Given the description of an element on the screen output the (x, y) to click on. 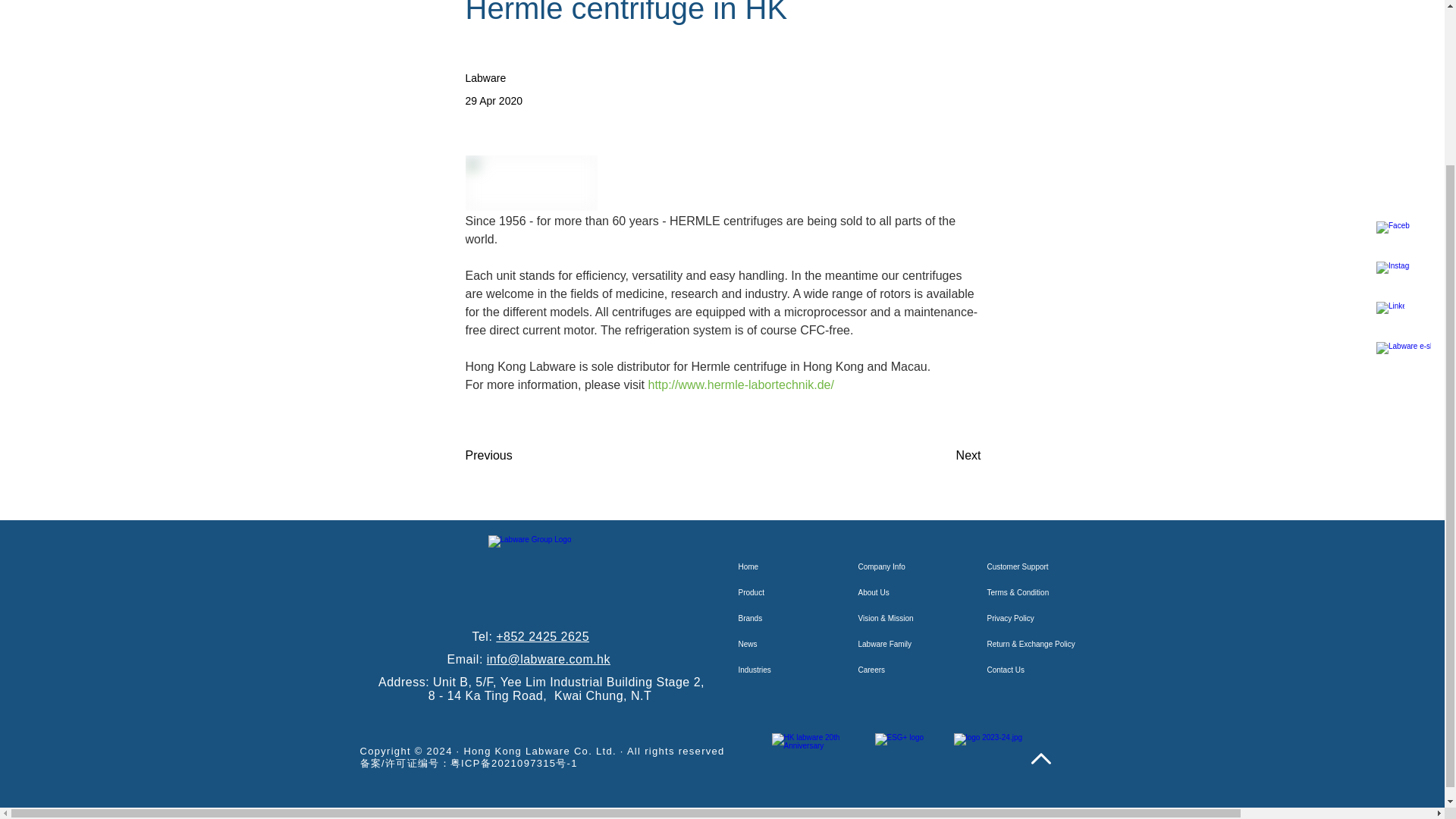
Next (943, 455)
Previous (515, 455)
